Given the description of an element on the screen output the (x, y) to click on. 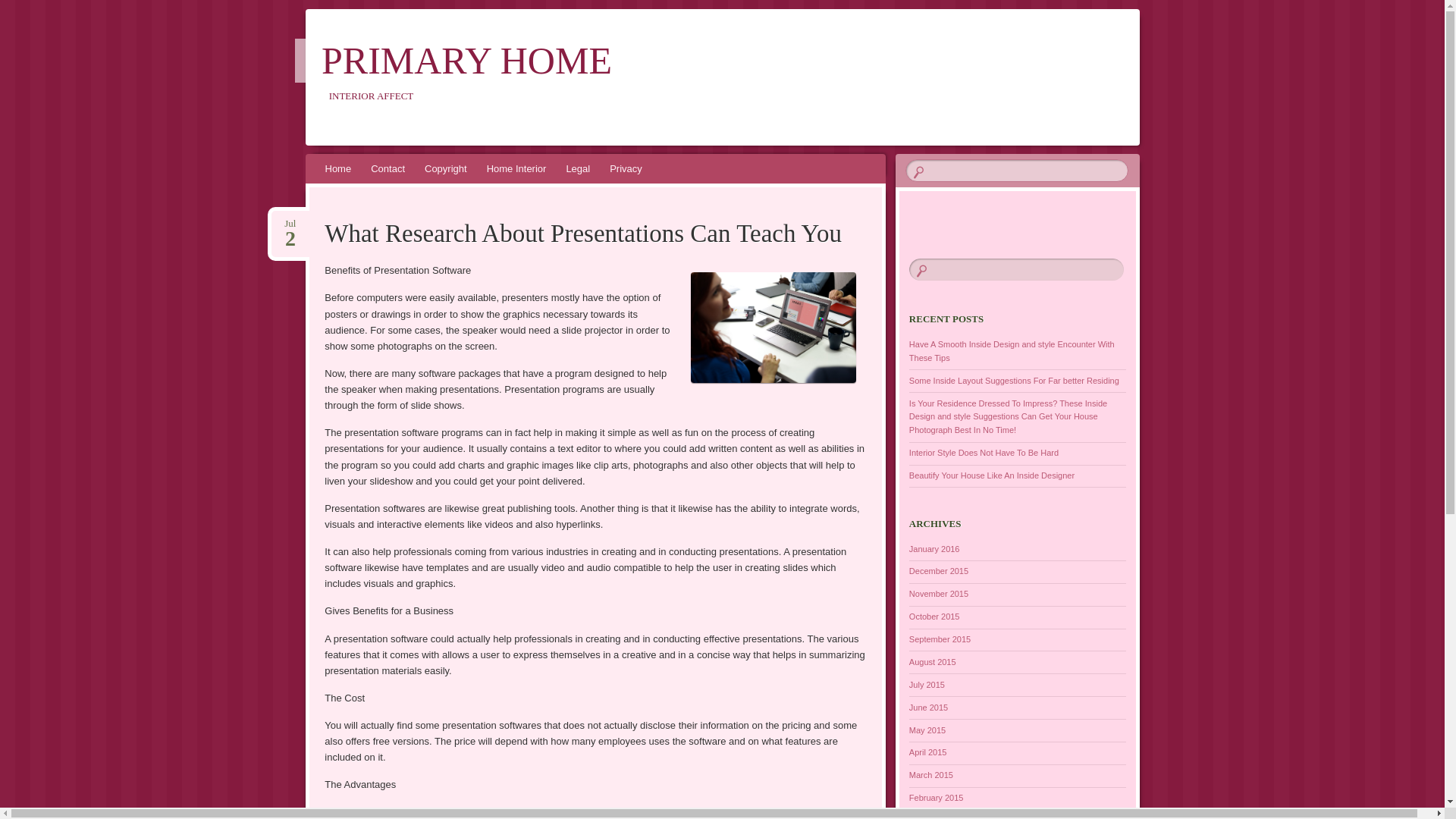
Beautify Your House Like An Inside Designer (991, 474)
September 2015 (939, 638)
Privacy (625, 168)
March 2015 (930, 774)
Legal (577, 168)
February 2015 (935, 797)
January 2015 (933, 817)
July 2015 (926, 684)
Home Interior (516, 168)
